Given the description of an element on the screen output the (x, y) to click on. 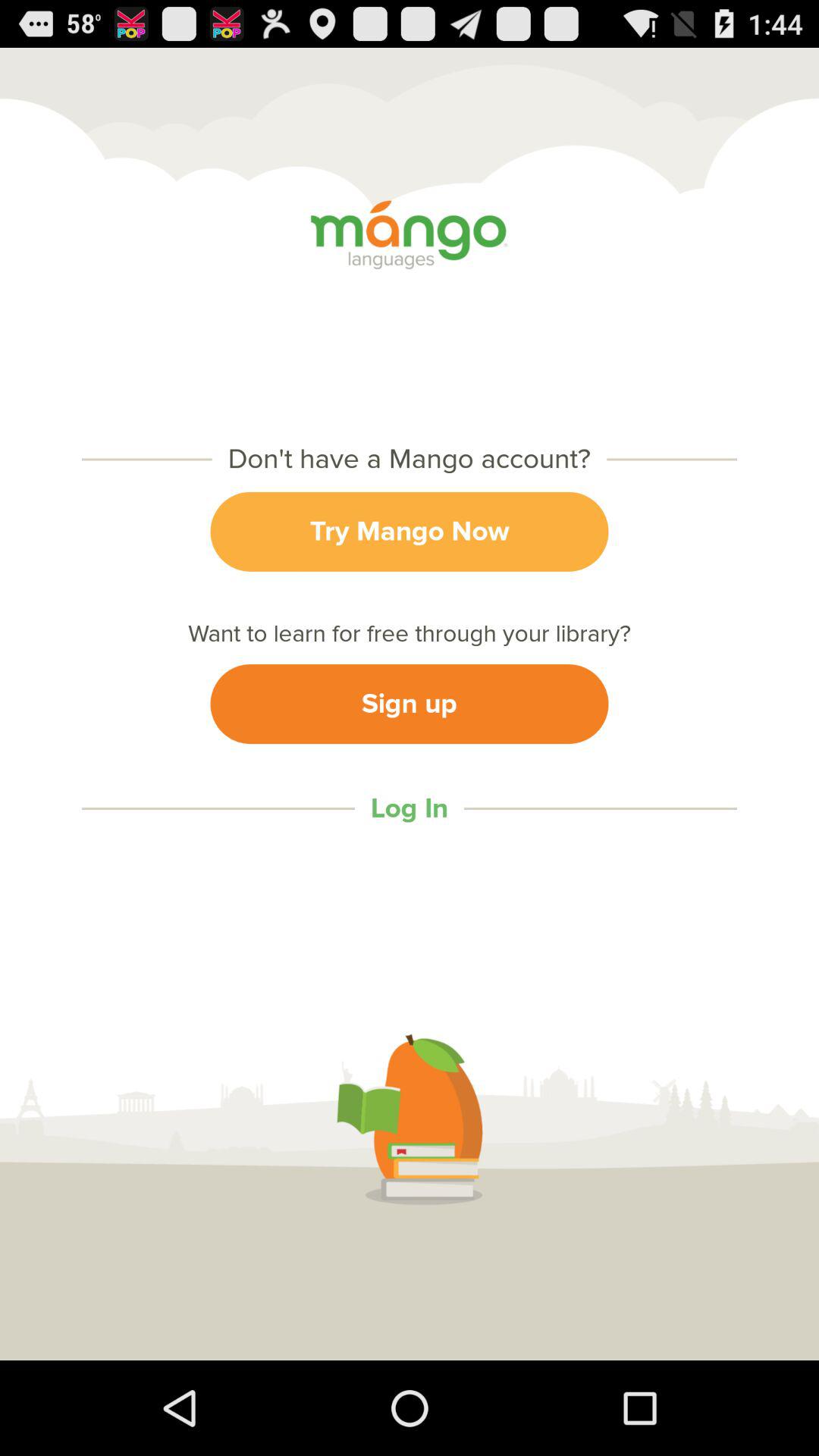
tap sign up (409, 703)
